Given the description of an element on the screen output the (x, y) to click on. 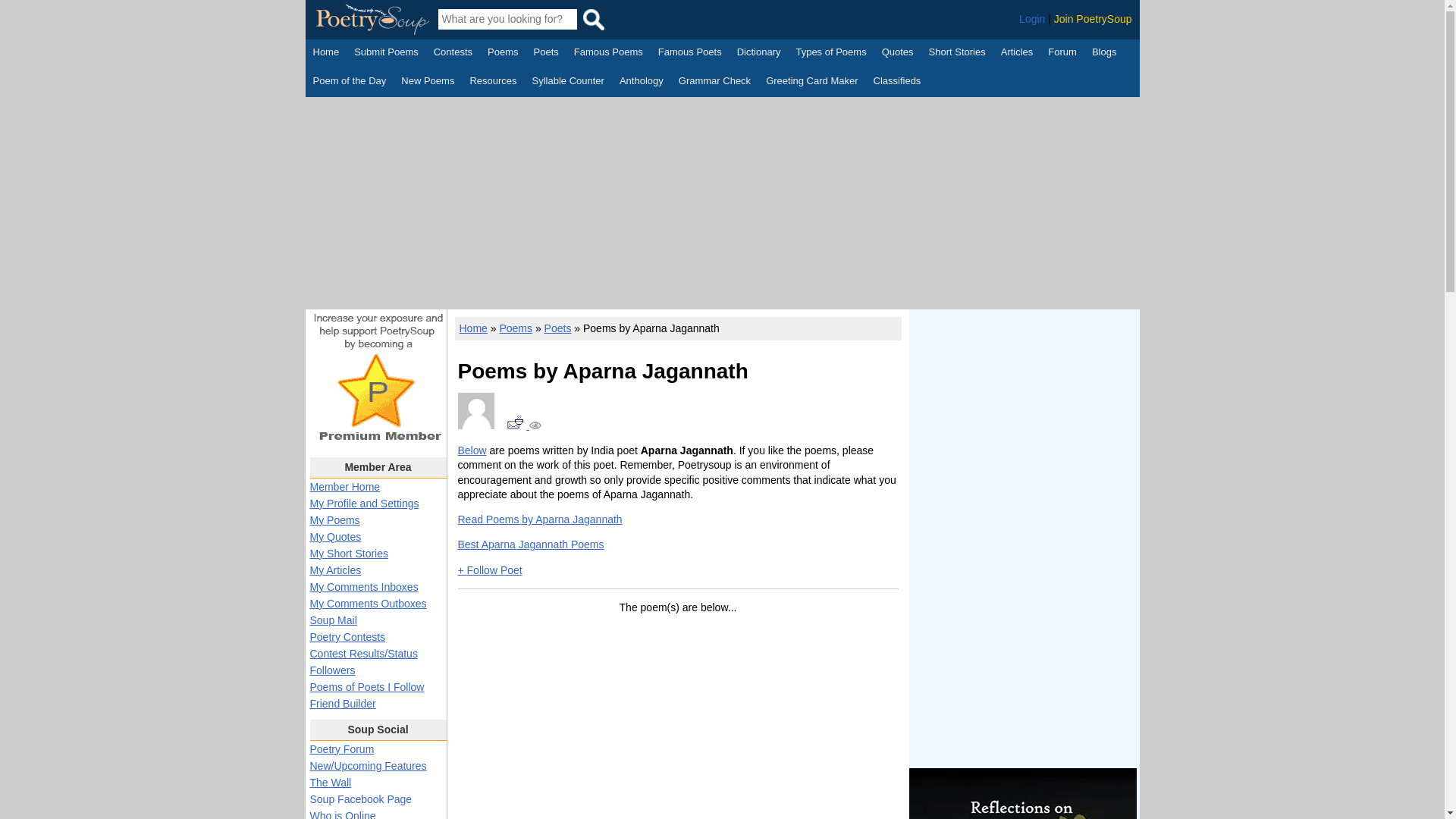
Anthology (641, 82)
Submit Poems (386, 53)
Resources (492, 82)
Poem of the Day (349, 82)
Contests (452, 53)
Famous Poems (608, 53)
Join PoetrySoup (1093, 19)
Member Home (344, 486)
Greeting Card Maker (811, 82)
My Poems (333, 520)
Dictionary (758, 53)
Articles (1017, 53)
Poetry Contests (452, 53)
Poems (502, 53)
Blogs (1104, 53)
